Given the description of an element on the screen output the (x, y) to click on. 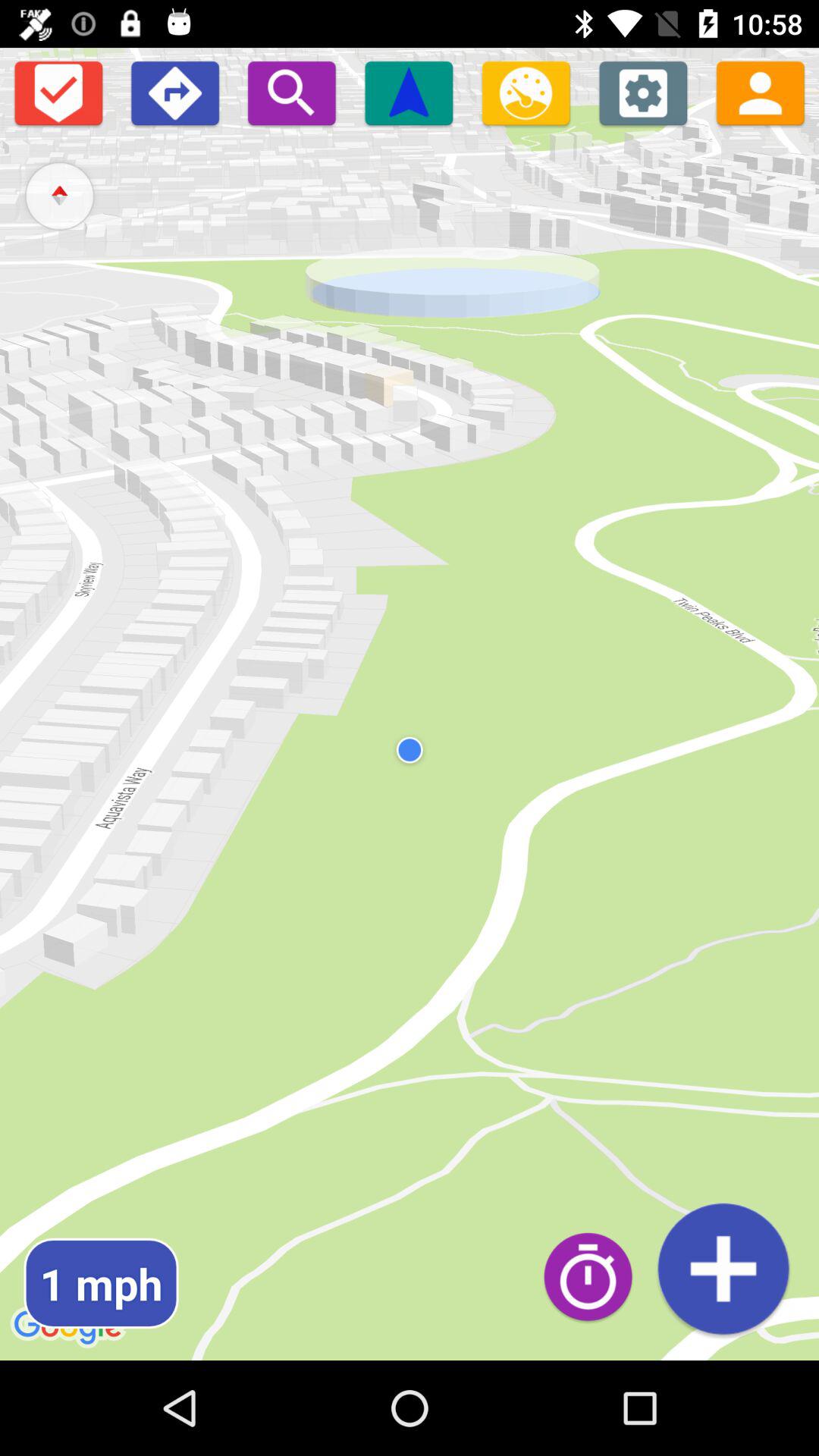
this is a playground (174, 92)
